Given the description of an element on the screen output the (x, y) to click on. 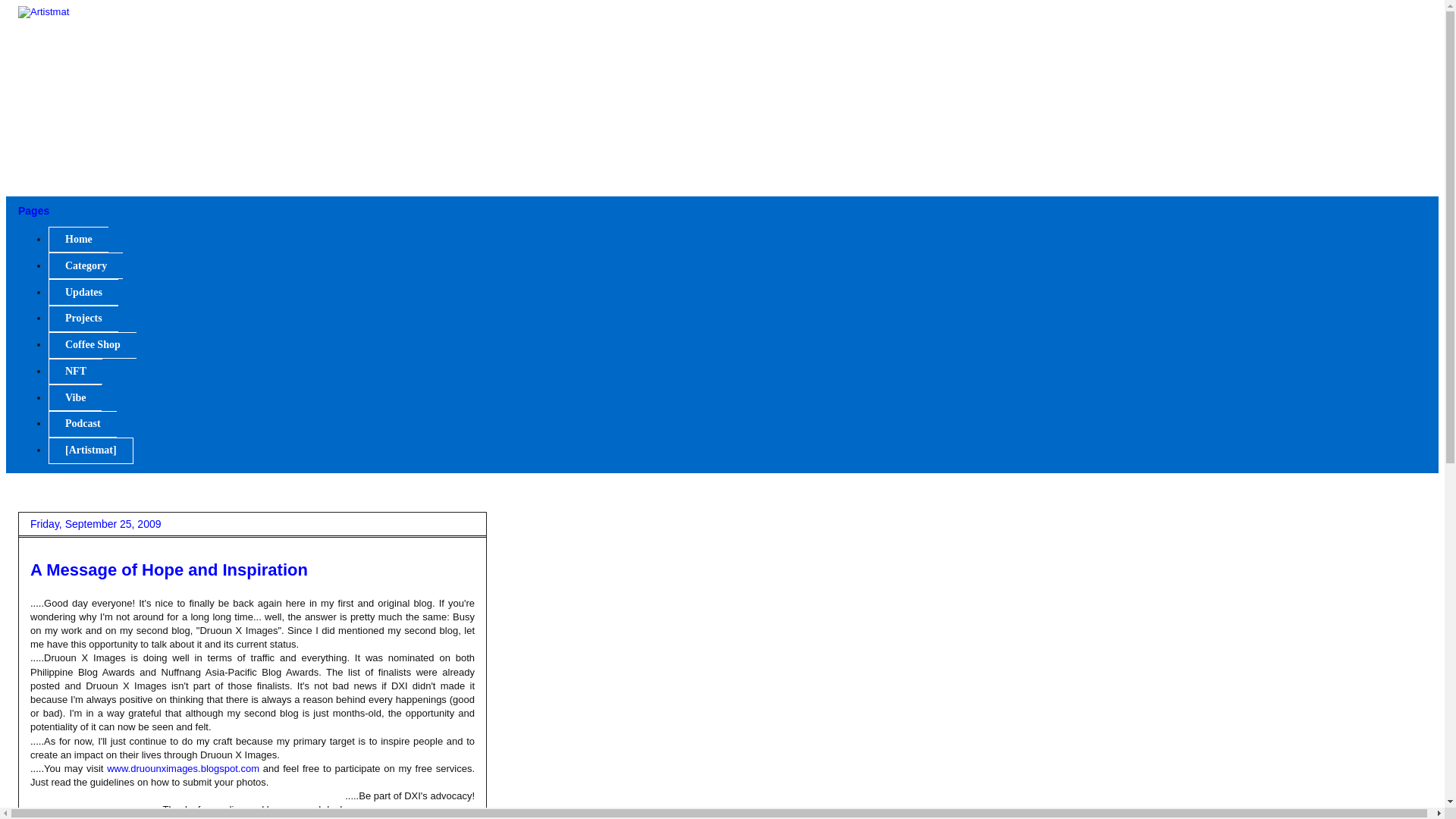
Coffee Shop (92, 345)
Updates (82, 292)
www.druounximages.blogspot.com (182, 767)
Category (85, 265)
Vibe (74, 397)
Podcast (82, 424)
NFT (74, 371)
Home (77, 239)
Projects (82, 318)
